Given the description of an element on the screen output the (x, y) to click on. 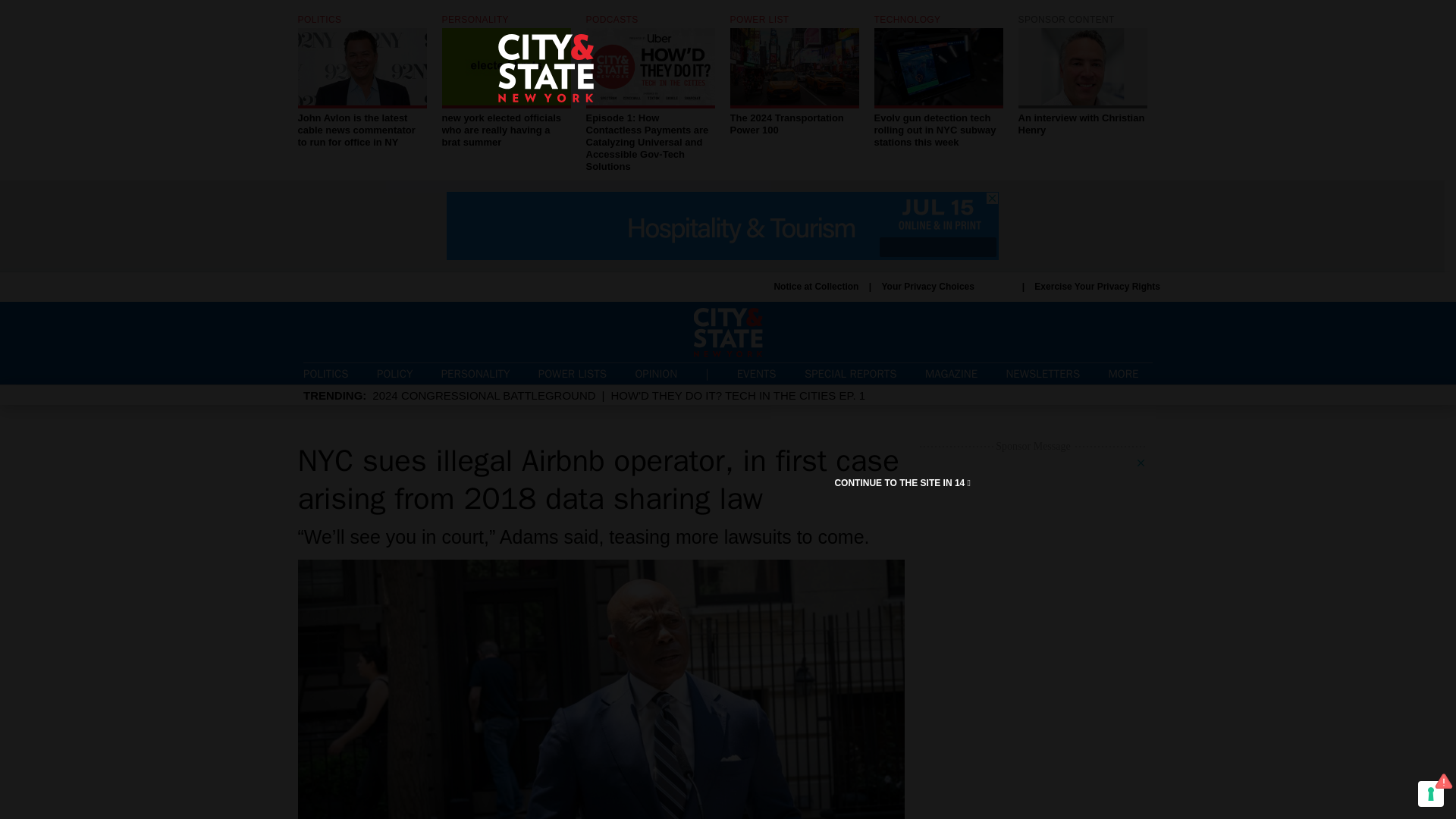
SPECIAL REPORTS (850, 373)
POLITICS (325, 373)
MORE (1130, 374)
Notice at Collection (816, 286)
POLICY (394, 373)
CONTINUE TO THE SITE IN 14 (1082, 75)
OPINION (902, 482)
Your Privacy Choices (655, 373)
EVENTS (1082, 75)
PERSONALITY (945, 287)
3rd party ad content (756, 373)
